Given the description of an element on the screen output the (x, y) to click on. 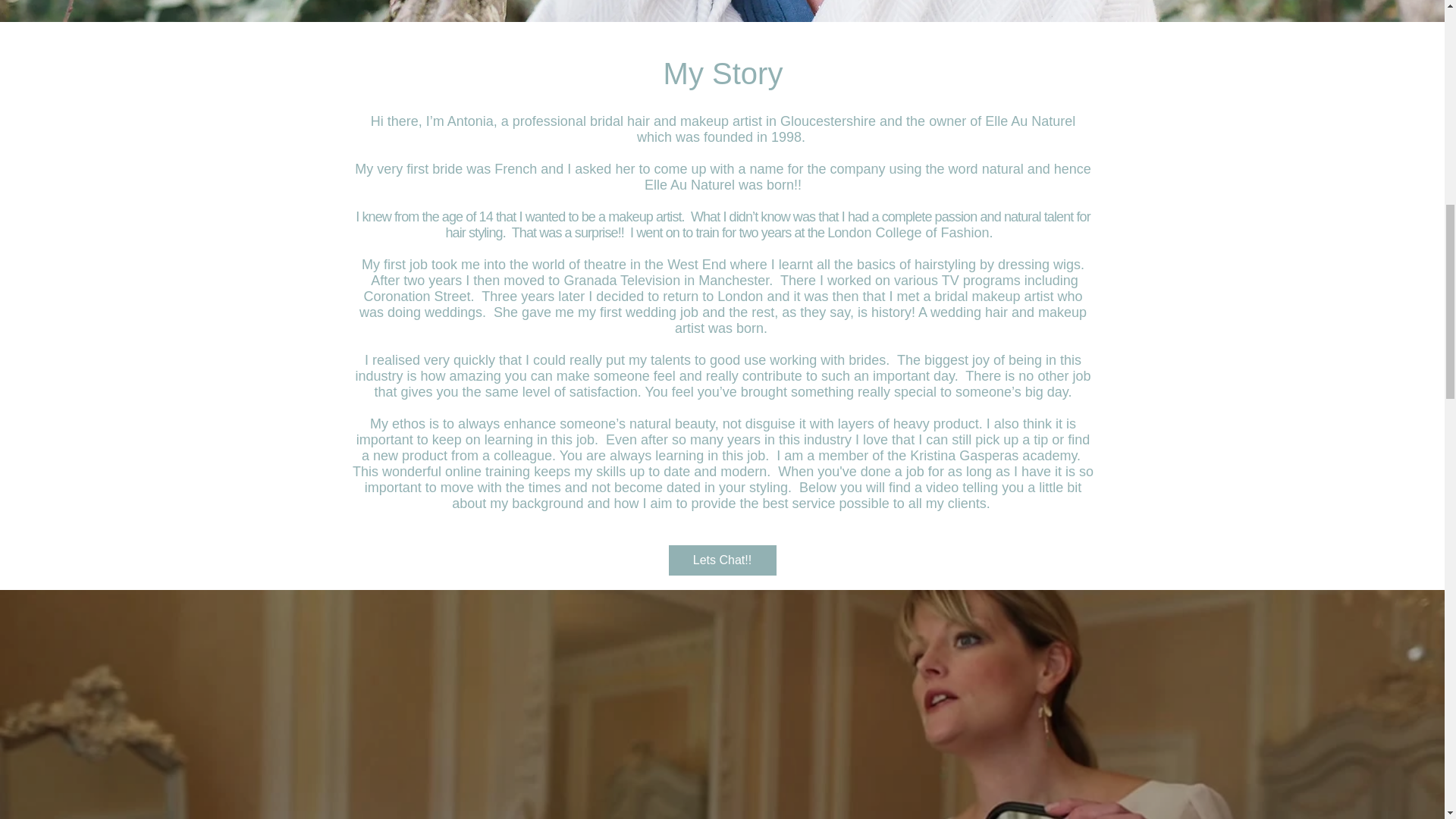
Lets Chat!! (722, 560)
